Given the description of an element on the screen output the (x, y) to click on. 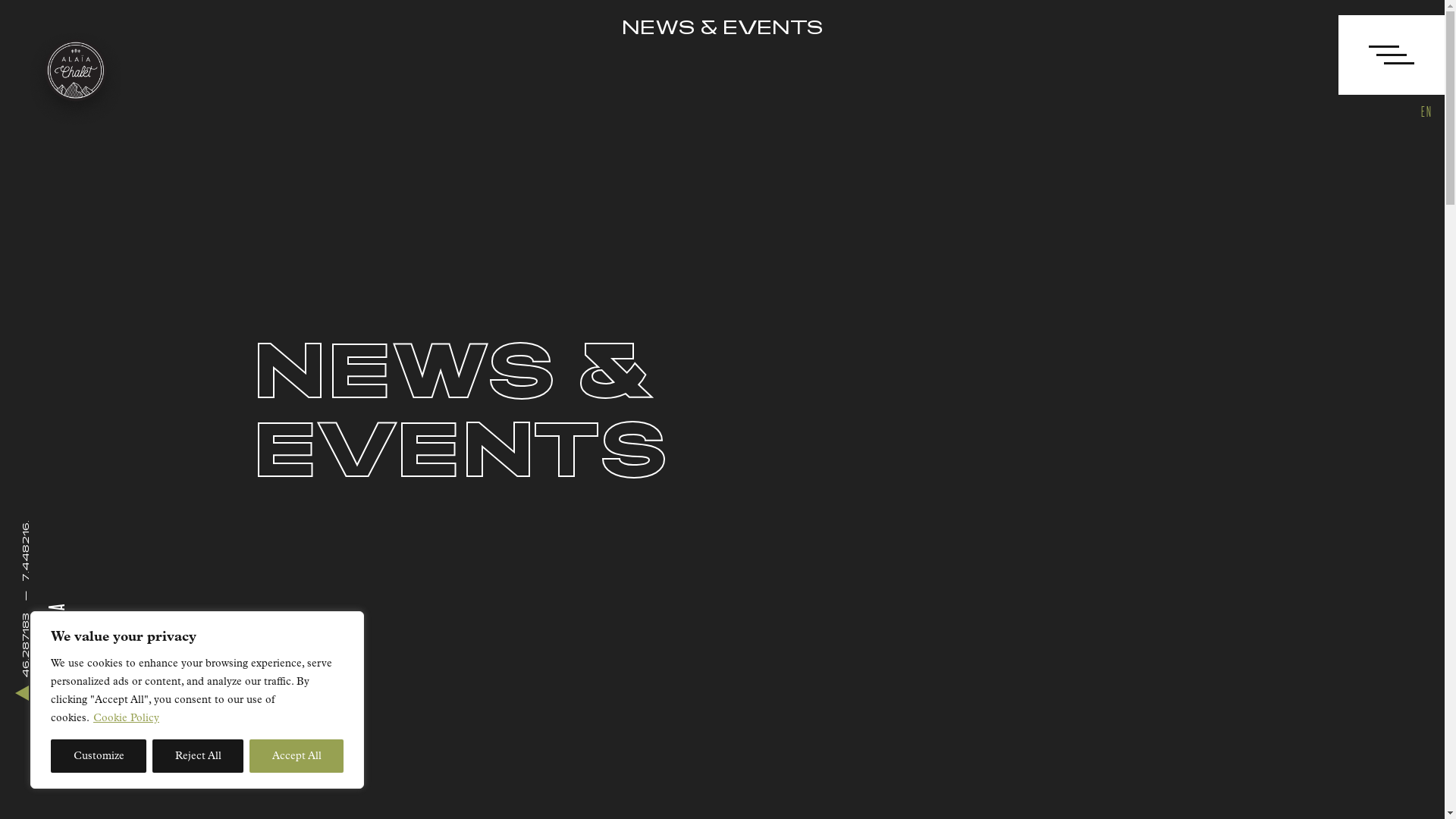
Reject All Element type: text (197, 755)
Customize Element type: text (98, 755)
Accept All Element type: text (296, 755)
EN Element type: text (1425, 110)
Cookie Policy Element type: text (126, 717)
